Given the description of an element on the screen output the (x, y) to click on. 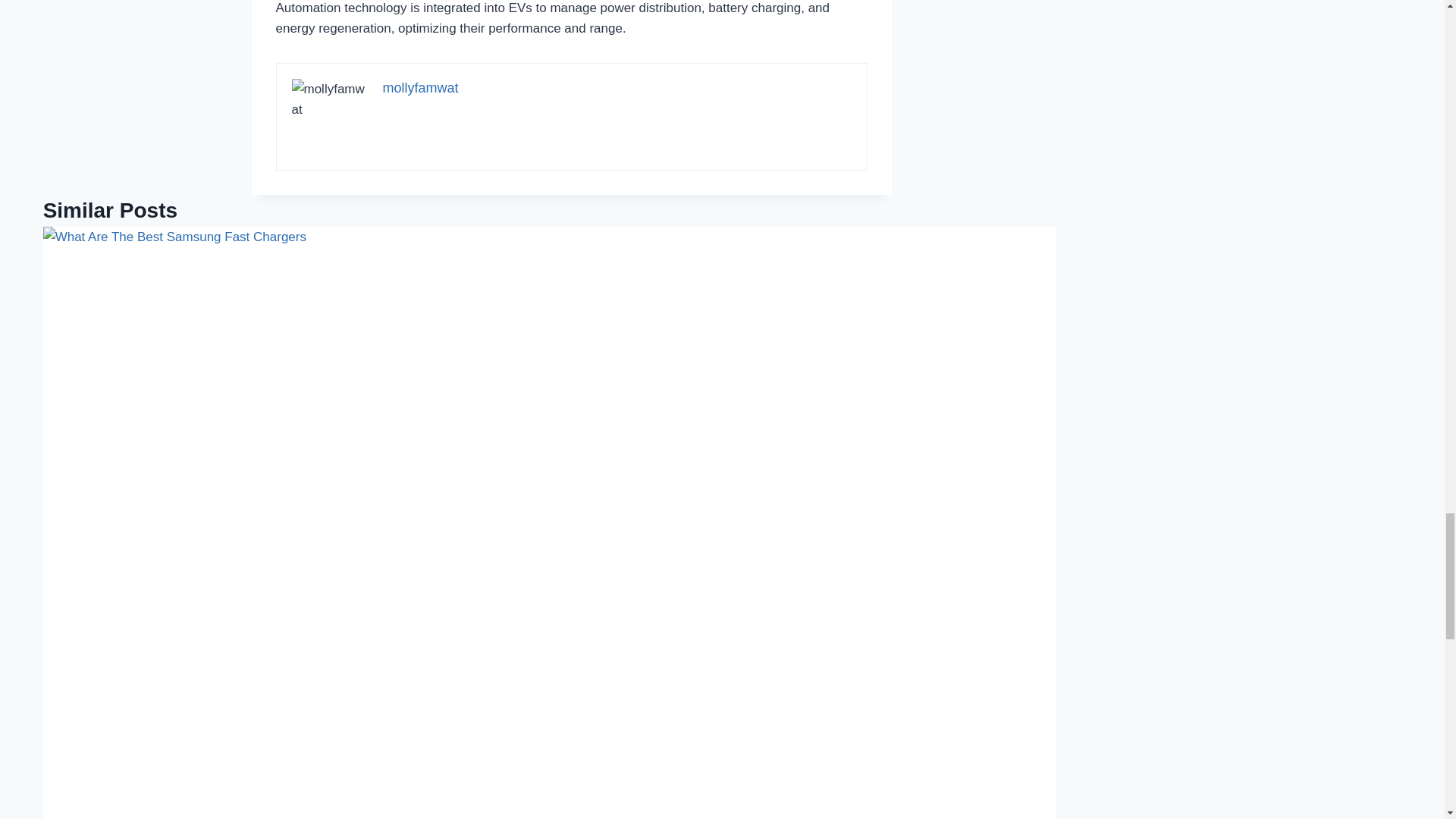
mollyfamwat (419, 87)
